Given the description of an element on the screen output the (x, y) to click on. 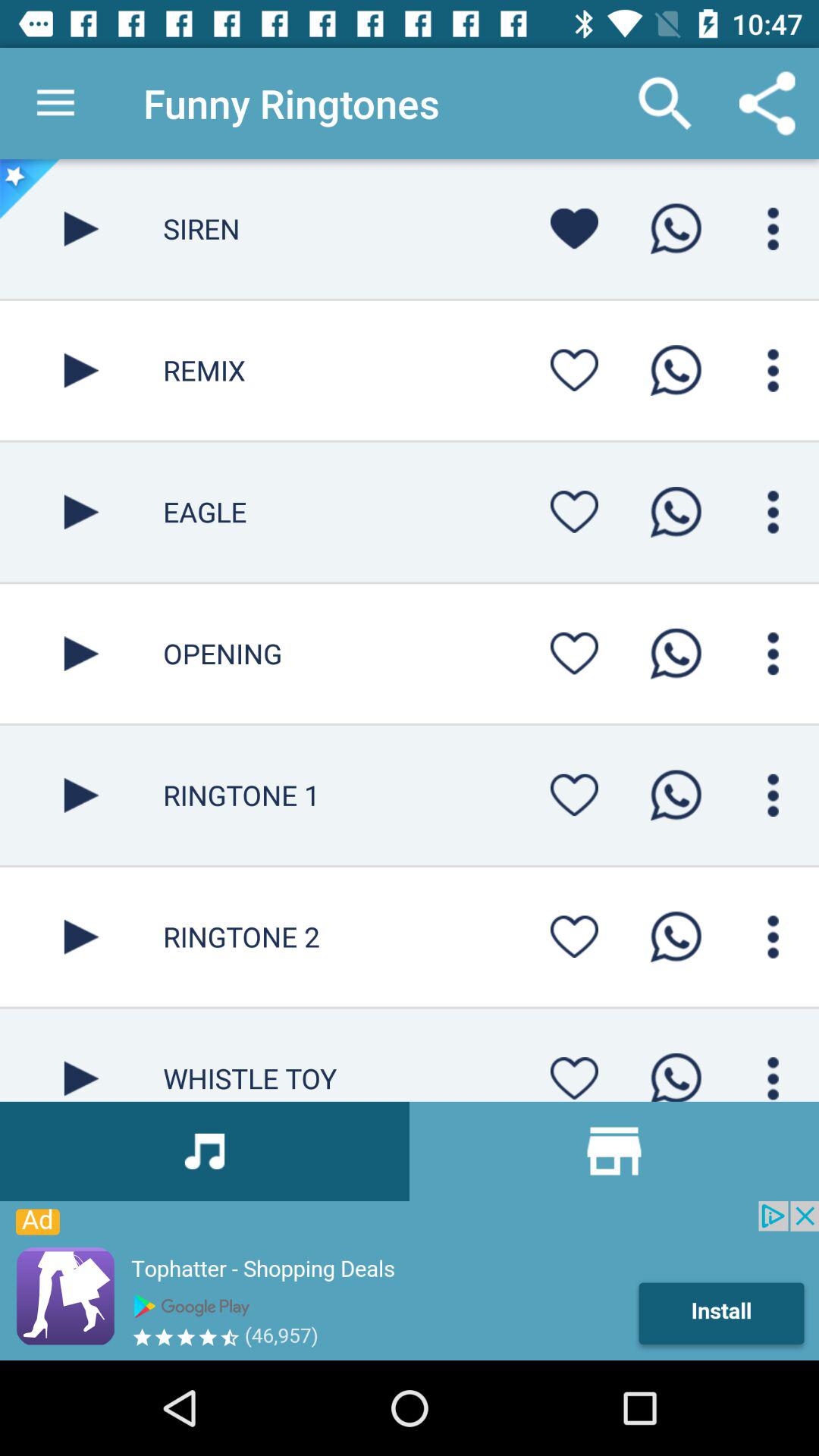
options button (773, 794)
